Given the description of an element on the screen output the (x, y) to click on. 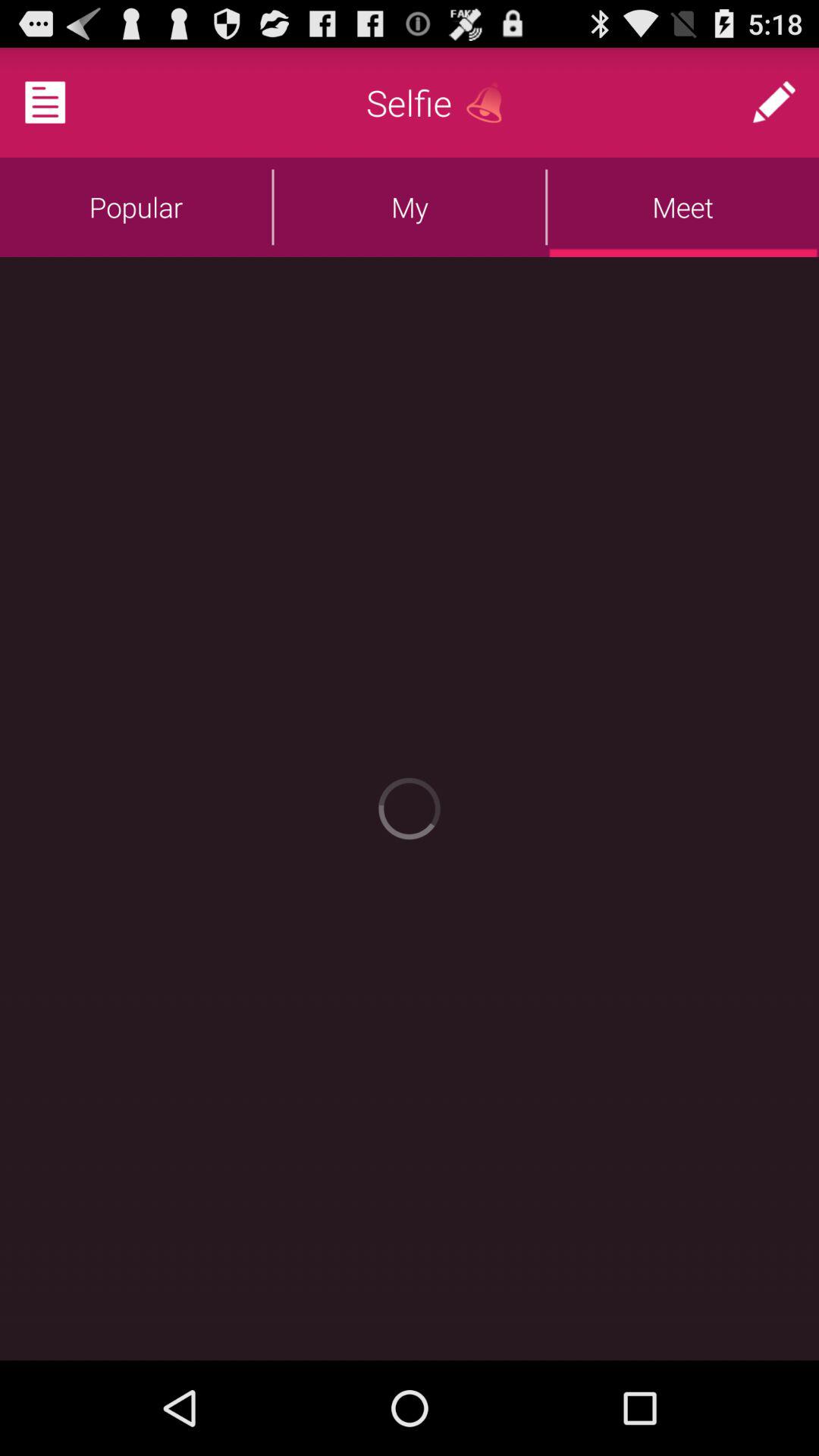
press the white paper to open more options (63, 102)
